Given the description of an element on the screen output the (x, y) to click on. 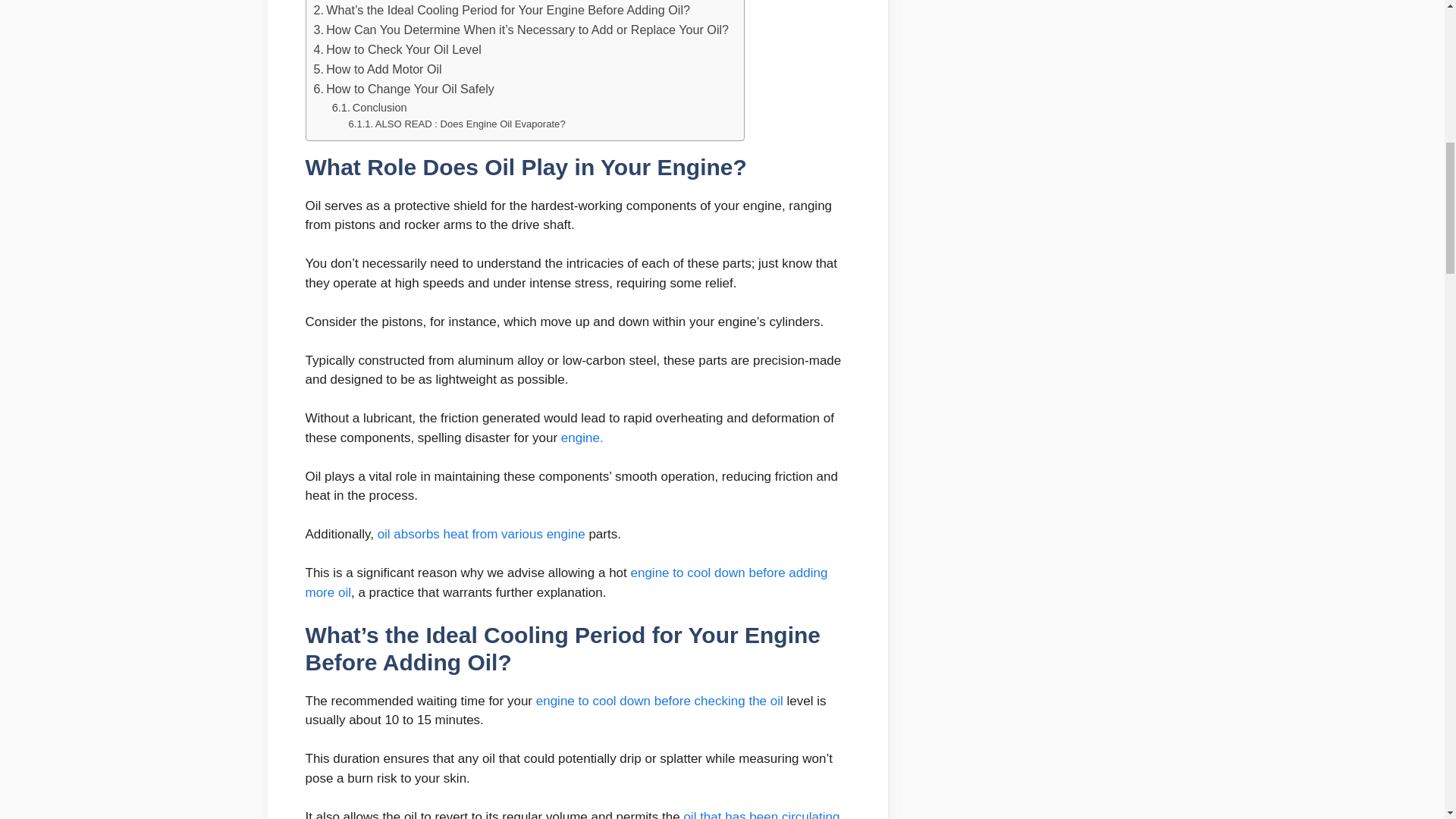
How to Add Motor Oil (378, 69)
How to Change Your Oil Safely (404, 89)
oil that has been circulating within your engine (572, 814)
How to Check Your Oil Level (397, 49)
How to Change Your Oil Safely (404, 89)
engine. (582, 437)
How to Check Your Oil Level (397, 49)
engine to cool down before adding more oil (565, 582)
Conclusion (369, 108)
ALSO READ : Does Engine Oil Evaporate? (457, 124)
How to Add Motor Oil (378, 69)
oil absorbs heat from various engine (481, 534)
